Given the description of an element on the screen output the (x, y) to click on. 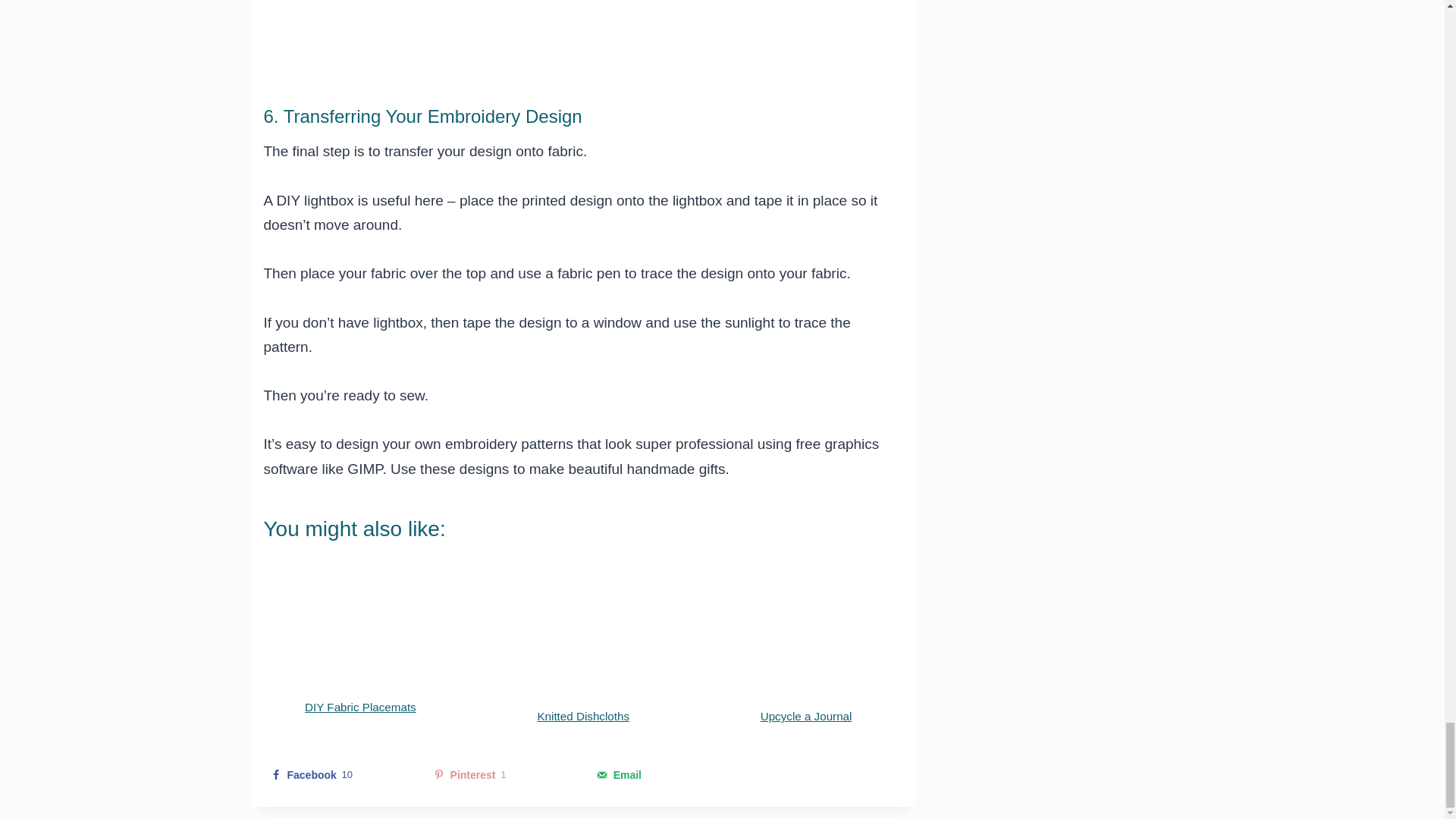
Send over email (664, 774)
Save to Pinterest (501, 774)
Share on Facebook (338, 774)
